Given the description of an element on the screen output the (x, y) to click on. 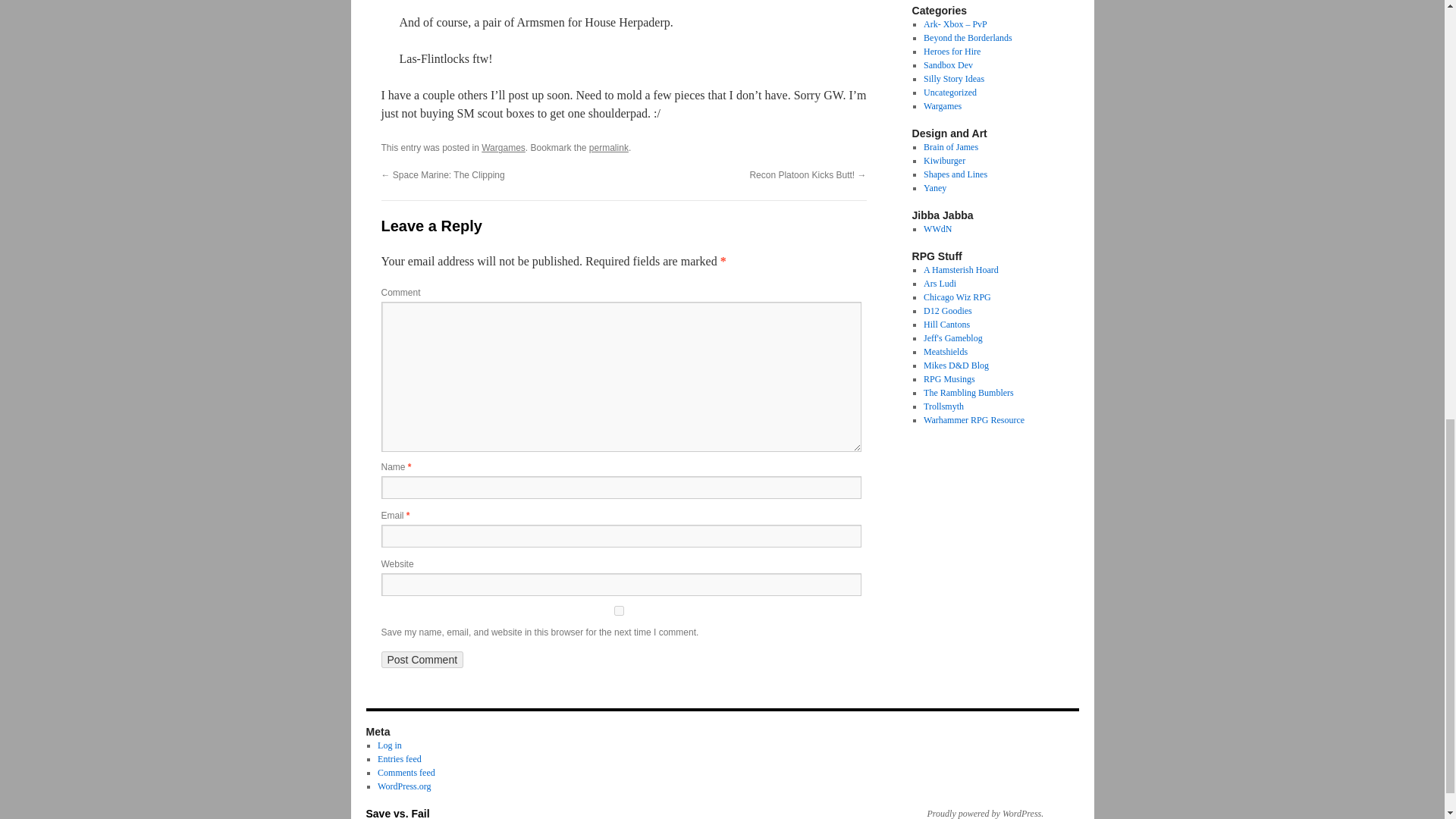
Portfolio and Blog for a good friend of mine. (955, 173)
Lessons and ideas about a Sandbox RPG format. (947, 64)
Post Comment (421, 659)
Game Design, Photography and general shenanigans. (950, 146)
permalink (608, 147)
yes (618, 610)
Permalink to Of Boredom and Superglue. (608, 147)
Post Comment (421, 659)
